Given the description of an element on the screen output the (x, y) to click on. 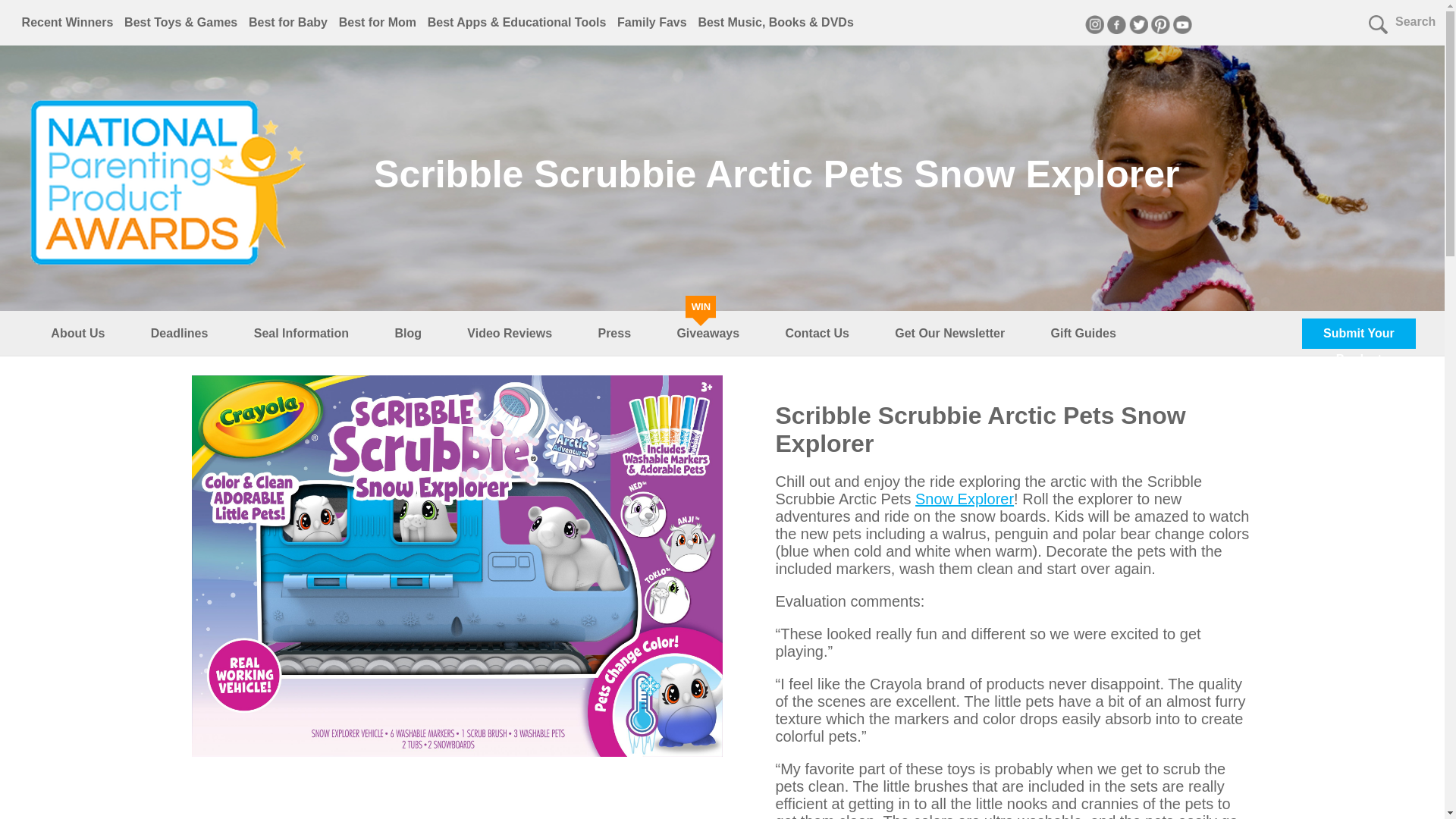
Best for Baby (287, 21)
Family Favs (652, 21)
Best for Mom (377, 21)
Recent Winners (67, 21)
